Given the description of an element on the screen output the (x, y) to click on. 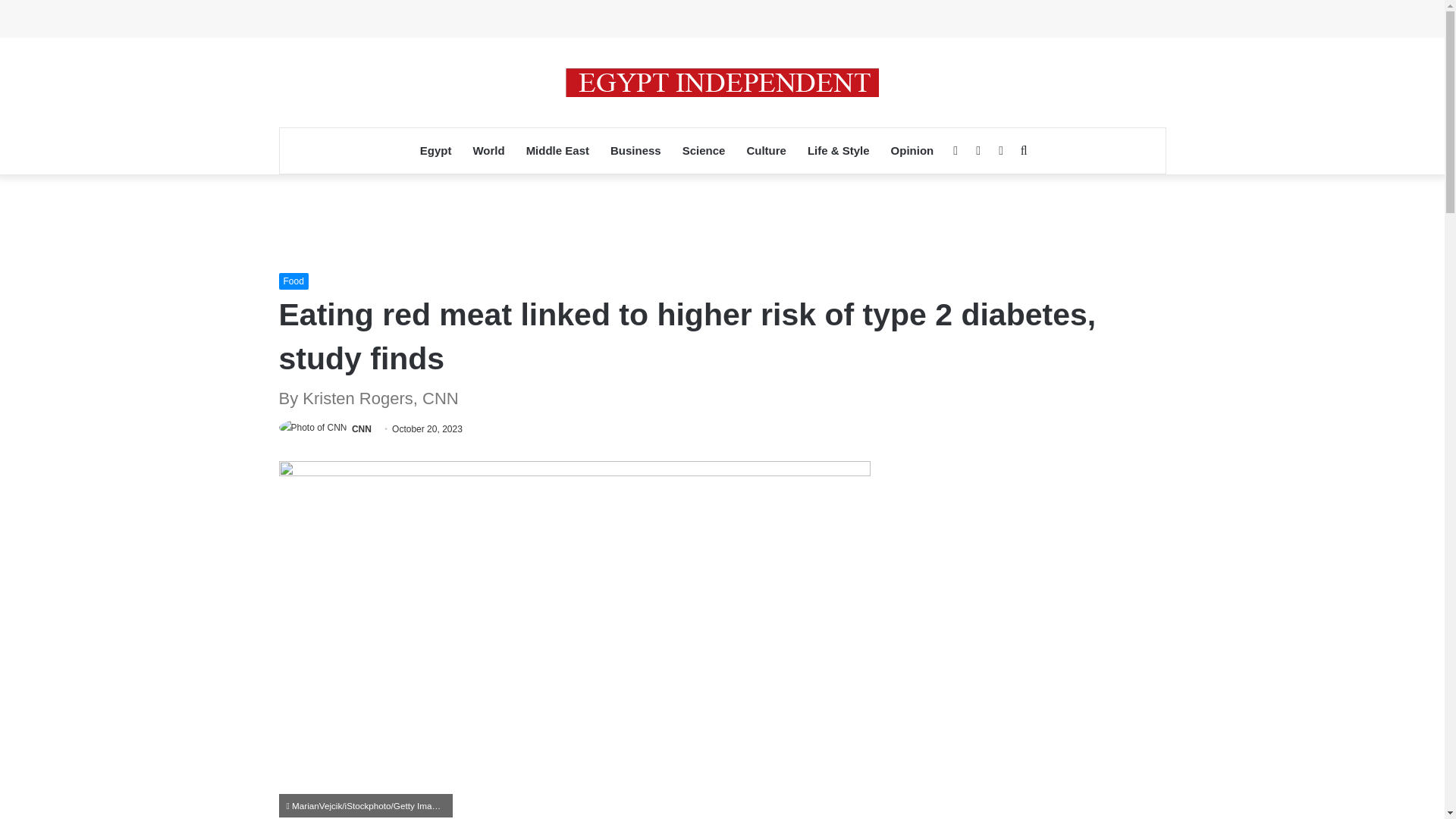
CNN (361, 429)
World (488, 150)
CNN (361, 429)
Egypt Independent (722, 82)
Middle East (557, 150)
Culture (765, 150)
Food (293, 280)
Science (703, 150)
Business (635, 150)
Egypt (436, 150)
